Given the description of an element on the screen output the (x, y) to click on. 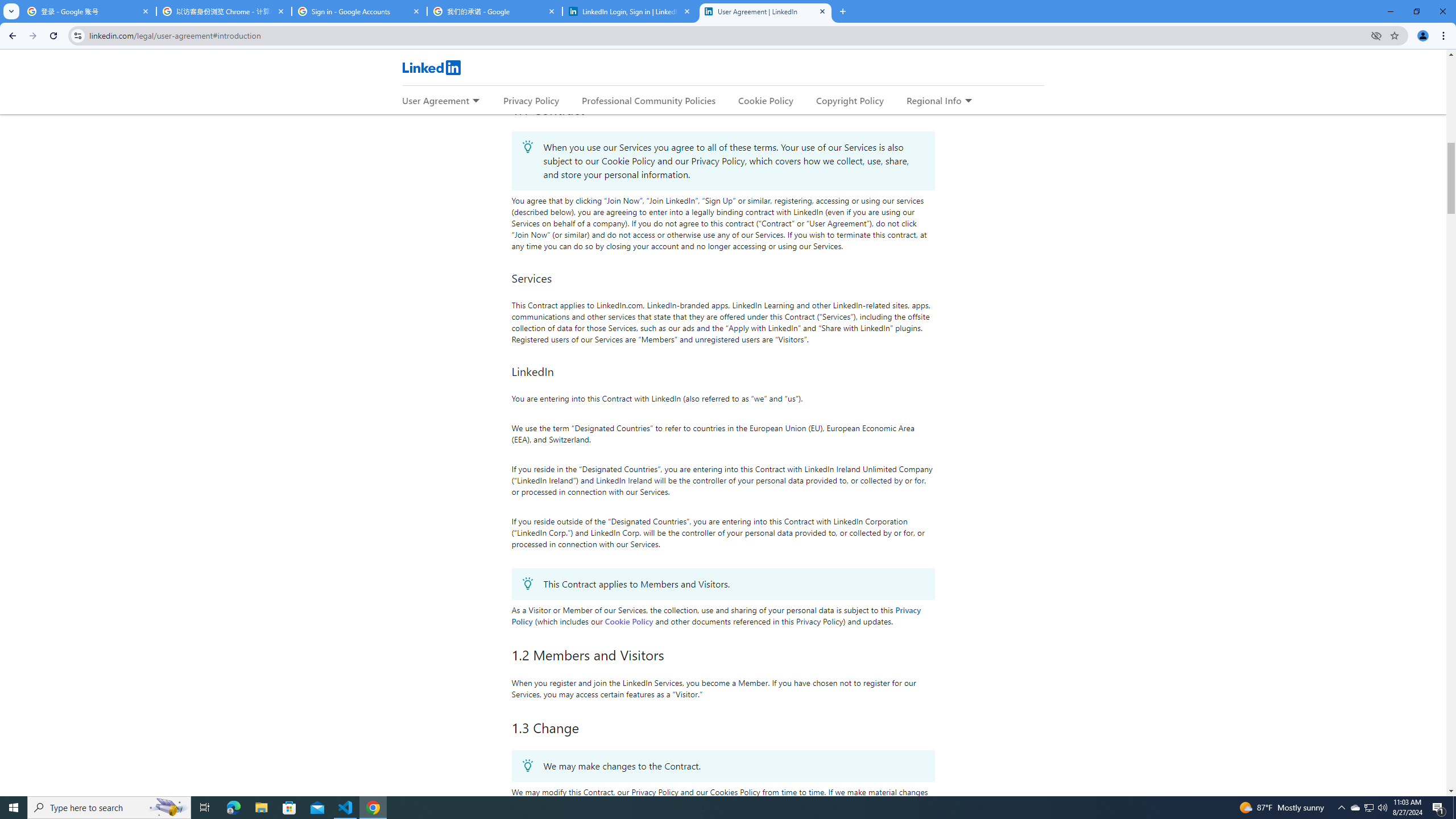
Regional Info (933, 100)
LinkedIn Login, Sign in | LinkedIn (630, 11)
Cookie Policy (628, 621)
Sign in - Google Accounts (359, 11)
